Given the description of an element on the screen output the (x, y) to click on. 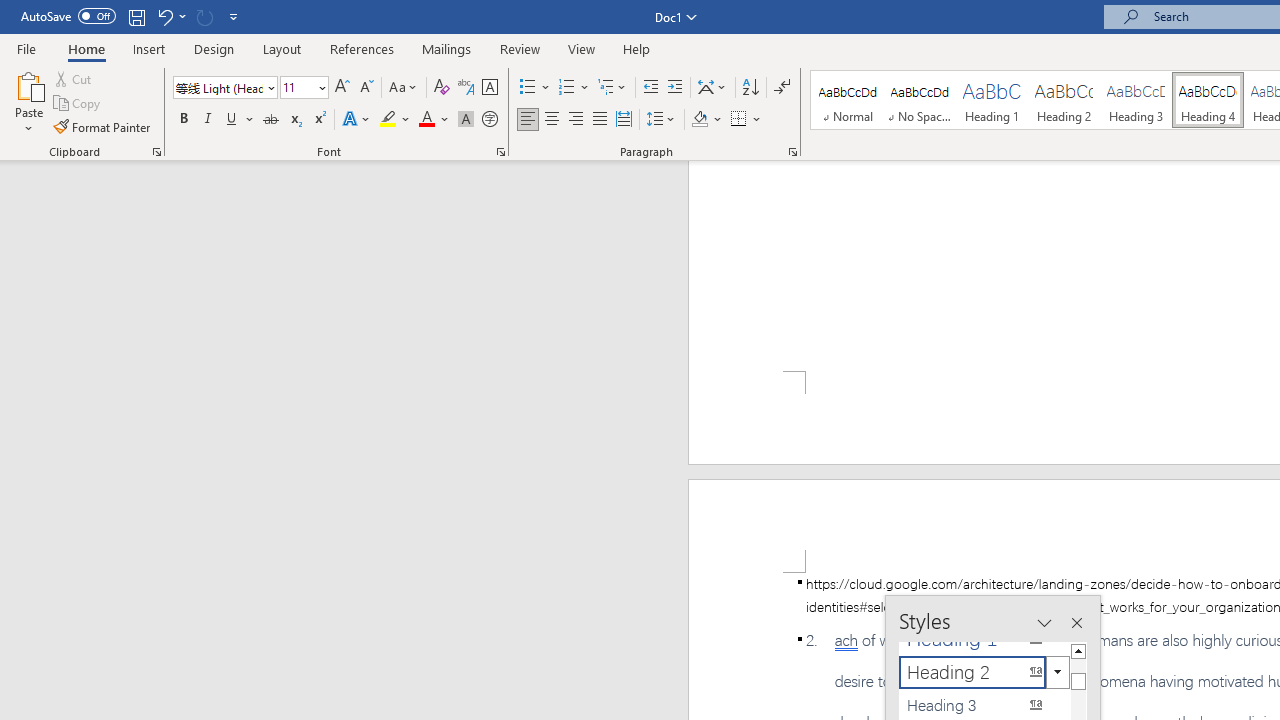
Heading 3 (1135, 100)
